Given the description of an element on the screen output the (x, y) to click on. 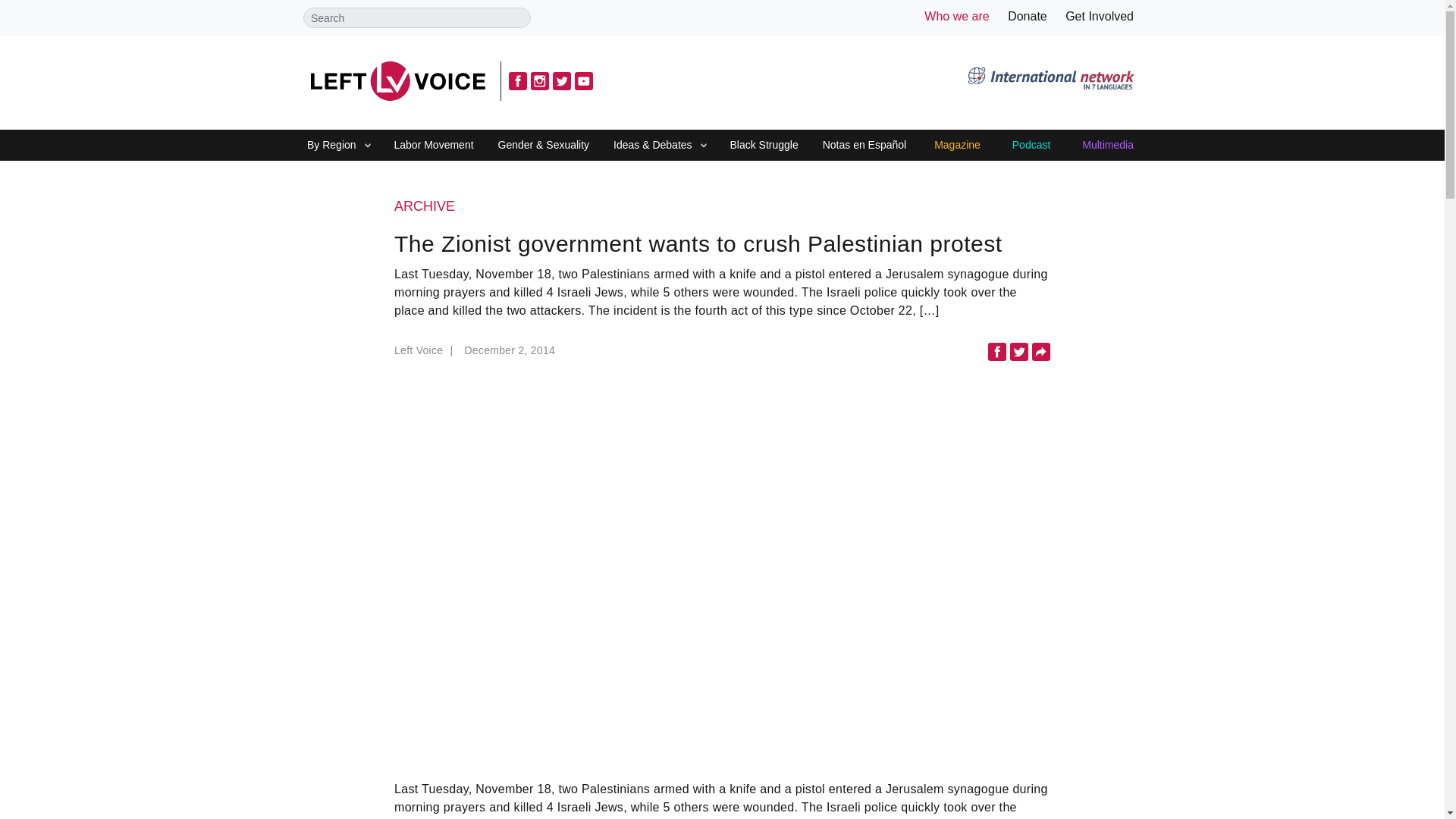
International Network (1050, 80)
Who we are (956, 15)
Left Voice (397, 80)
Magazine (957, 145)
Multimedia (1107, 145)
Get Involved (1099, 15)
Donate (1027, 15)
Labor Movement (433, 145)
By Region (330, 145)
ARCHIVE (721, 207)
Podcast (1031, 145)
Left Voice (425, 354)
Black Struggle (763, 145)
